Given the description of an element on the screen output the (x, y) to click on. 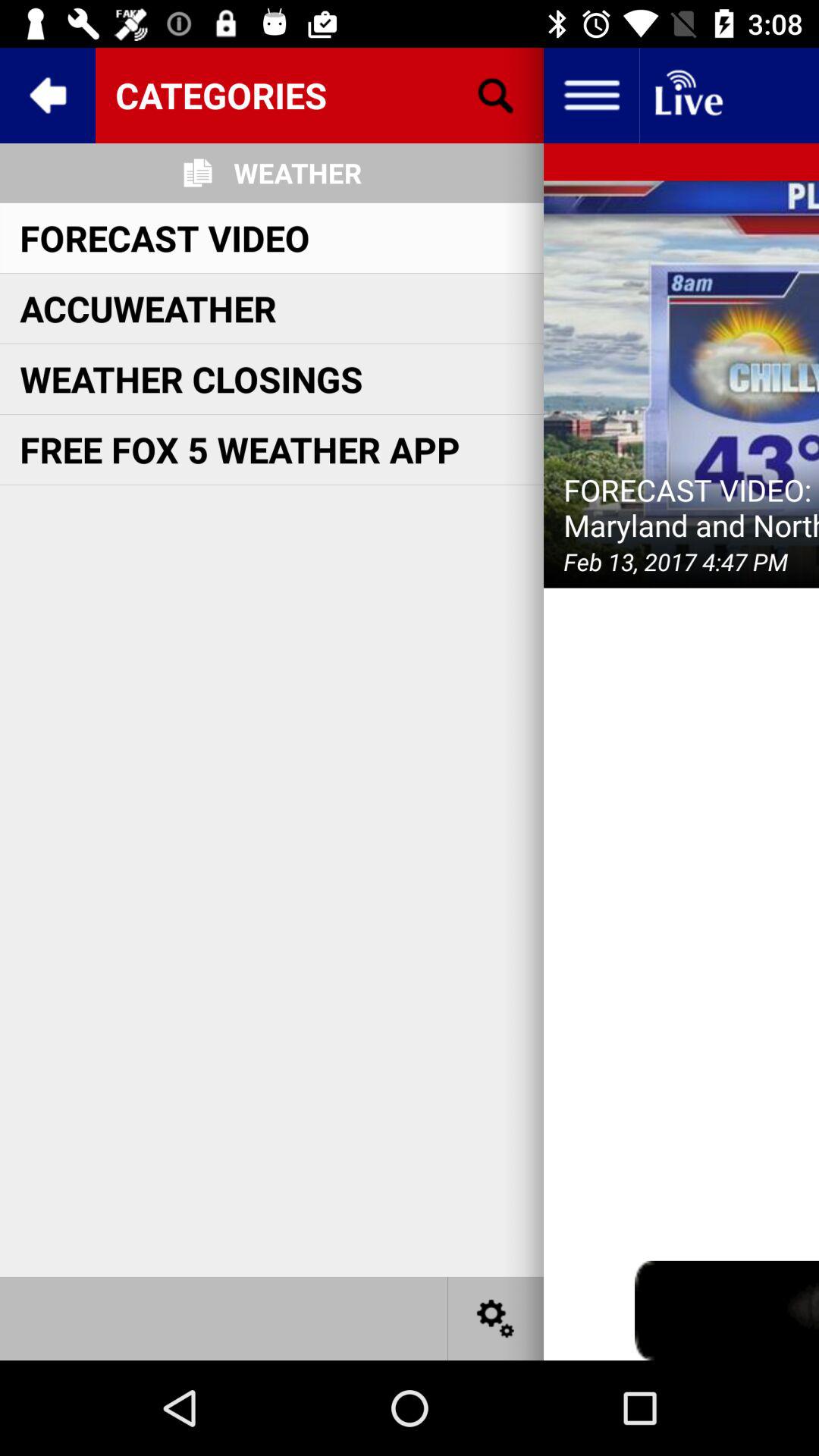
select item above accuweather item (164, 237)
